Given the description of an element on the screen output the (x, y) to click on. 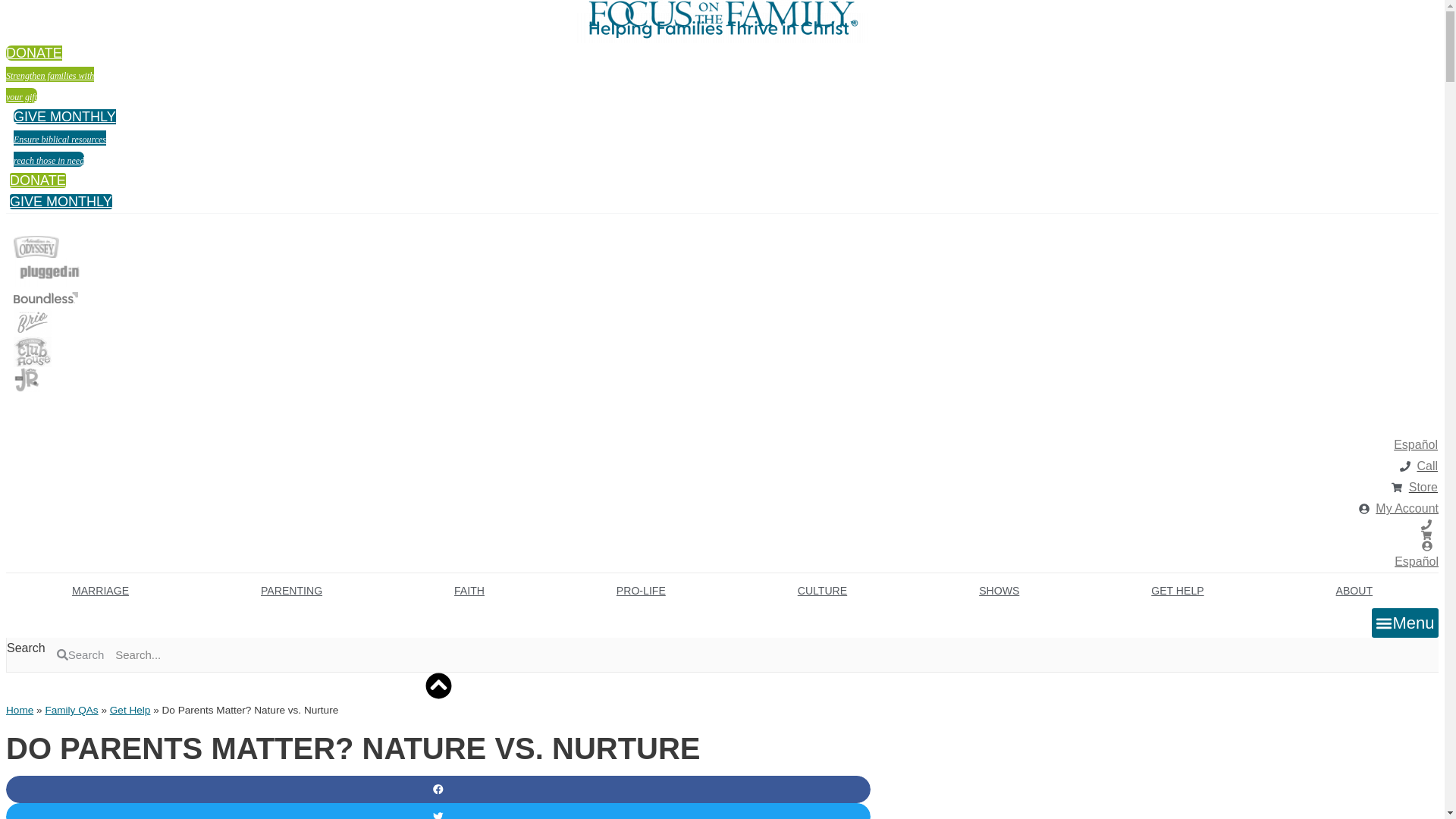
MARRIAGE (100, 590)
Focus on the Family Clubhouse (31, 351)
PARENTING (291, 590)
Adventures in Odyssey (36, 246)
Plugged In (23, 403)
DONATE (37, 180)
Boundless (45, 297)
Focus on the Family (722, 13)
Brio (31, 321)
Plugged In (49, 271)
